Given the description of an element on the screen output the (x, y) to click on. 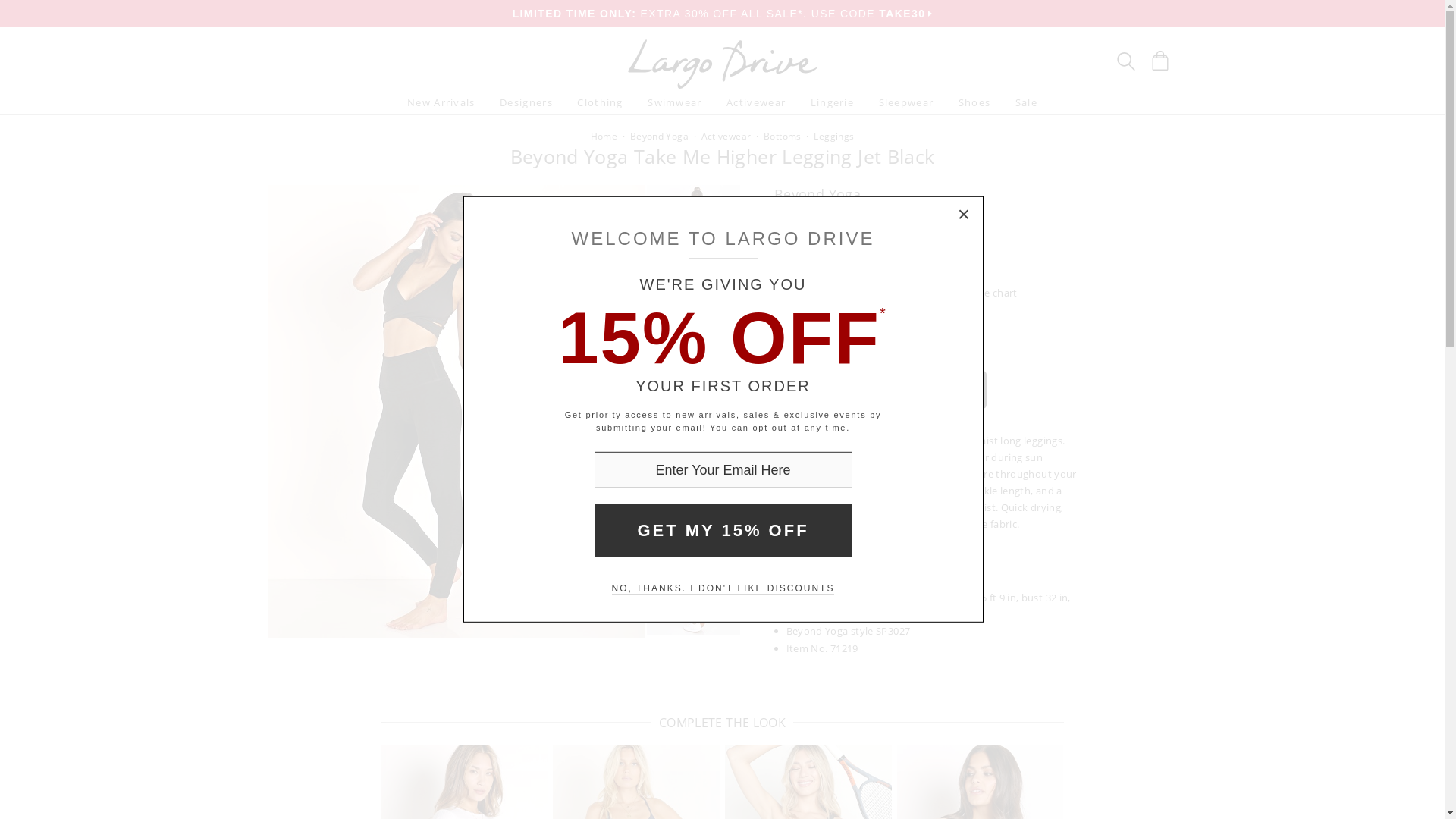
Designers (526, 101)
1 (862, 319)
Search Box (1125, 61)
New Arrivals (441, 101)
Shopping Bag (1159, 60)
Your email address (722, 470)
Largo Drive (721, 42)
Enter Your Email Here (722, 470)
